Given the description of an element on the screen output the (x, y) to click on. 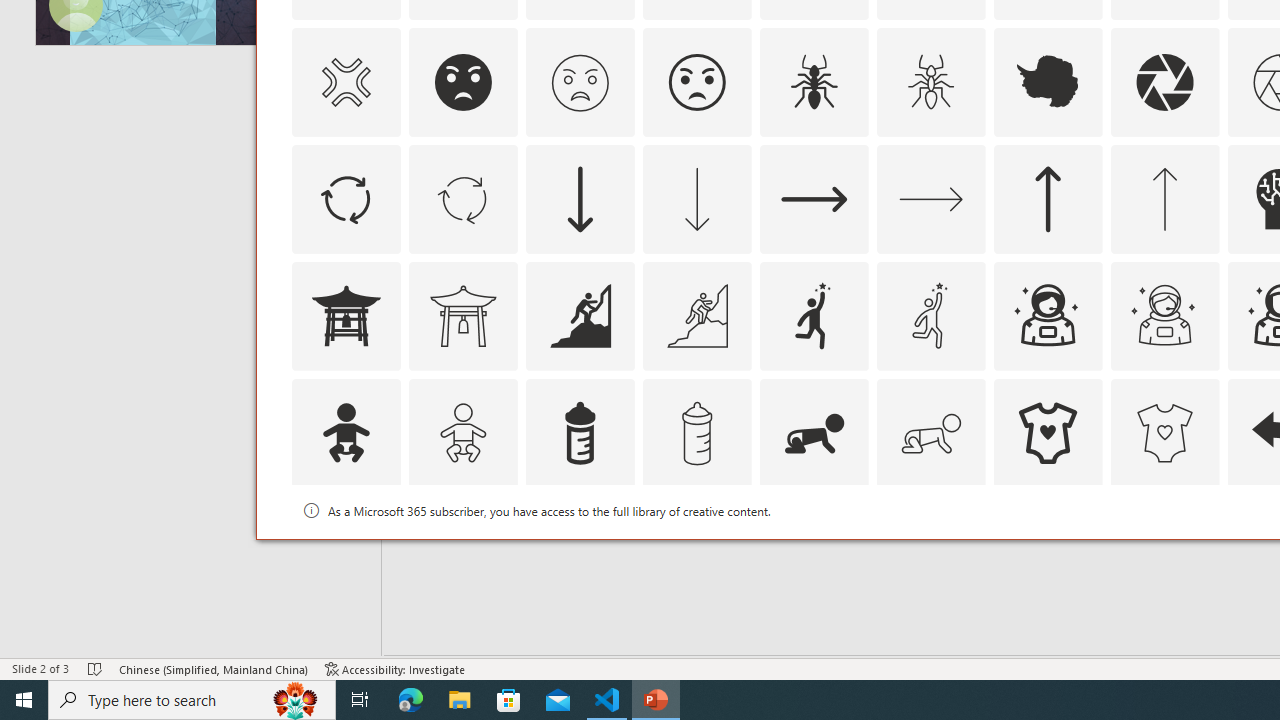
AutomationID: Icons_Badge10_M (345, 550)
AutomationID: Icons_Badge3_M (813, 550)
AutomationID: Icons_BabyOnesie_M (1164, 432)
AutomationID: Icons_Aspiration1_M (930, 316)
Thumbnail (1204, 511)
AutomationID: Icons_Aspiration1 (813, 316)
AutomationID: Icons_Ant_M (930, 82)
AutomationID: Icons_BabyBottle_M (696, 432)
AutomationID: Icons_Aperture (1164, 82)
